Given the description of an element on the screen output the (x, y) to click on. 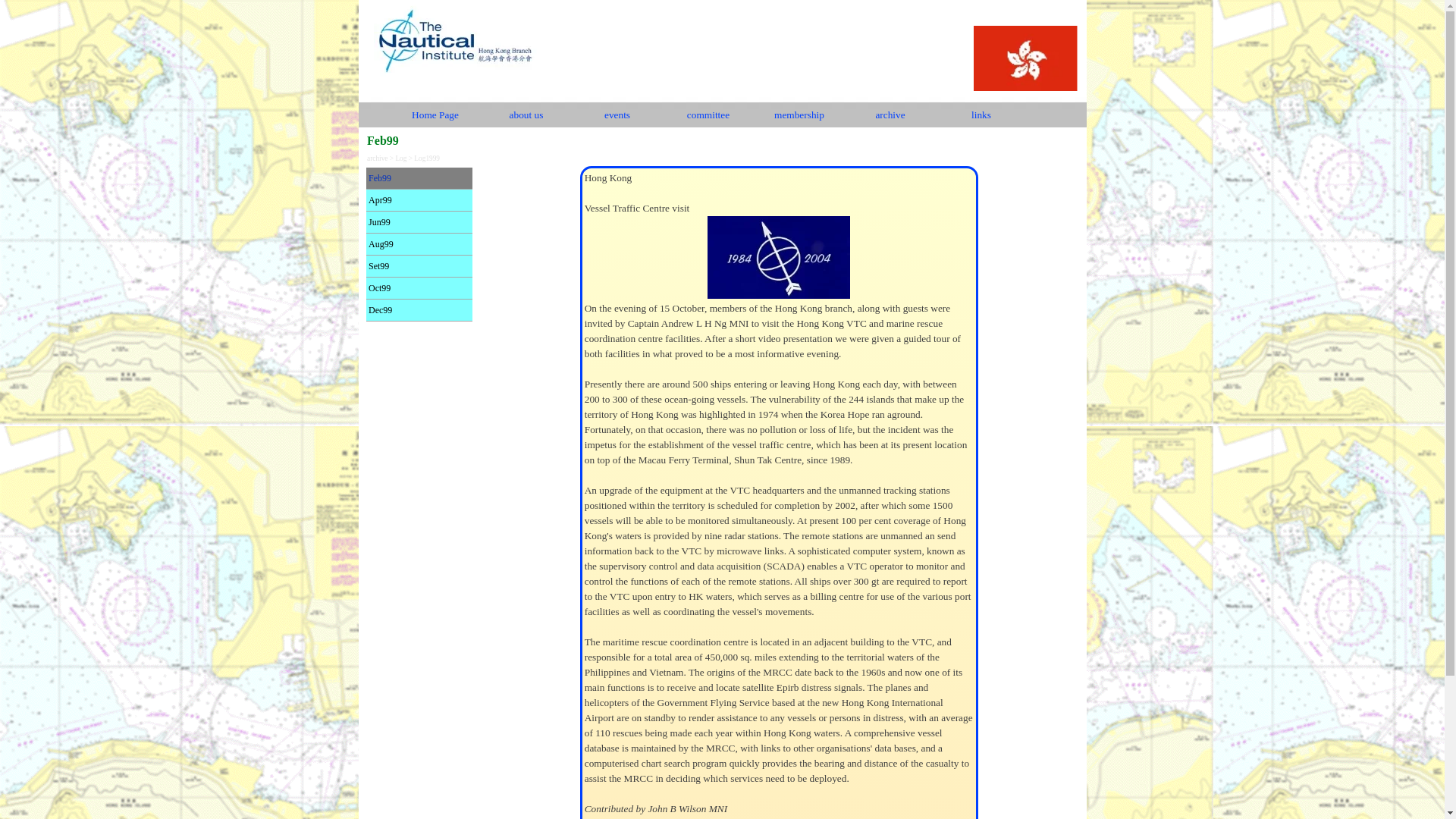
committee (707, 114)
Oct99 (419, 287)
Apr99 (419, 199)
Jun99 (419, 221)
links (981, 114)
about us (525, 114)
membership (799, 114)
Dec99 (419, 310)
Aug99 (419, 243)
flag (1025, 60)
logo (453, 38)
Feb99 (419, 178)
Home Page (435, 114)
Set99 (419, 265)
